Given the description of an element on the screen output the (x, y) to click on. 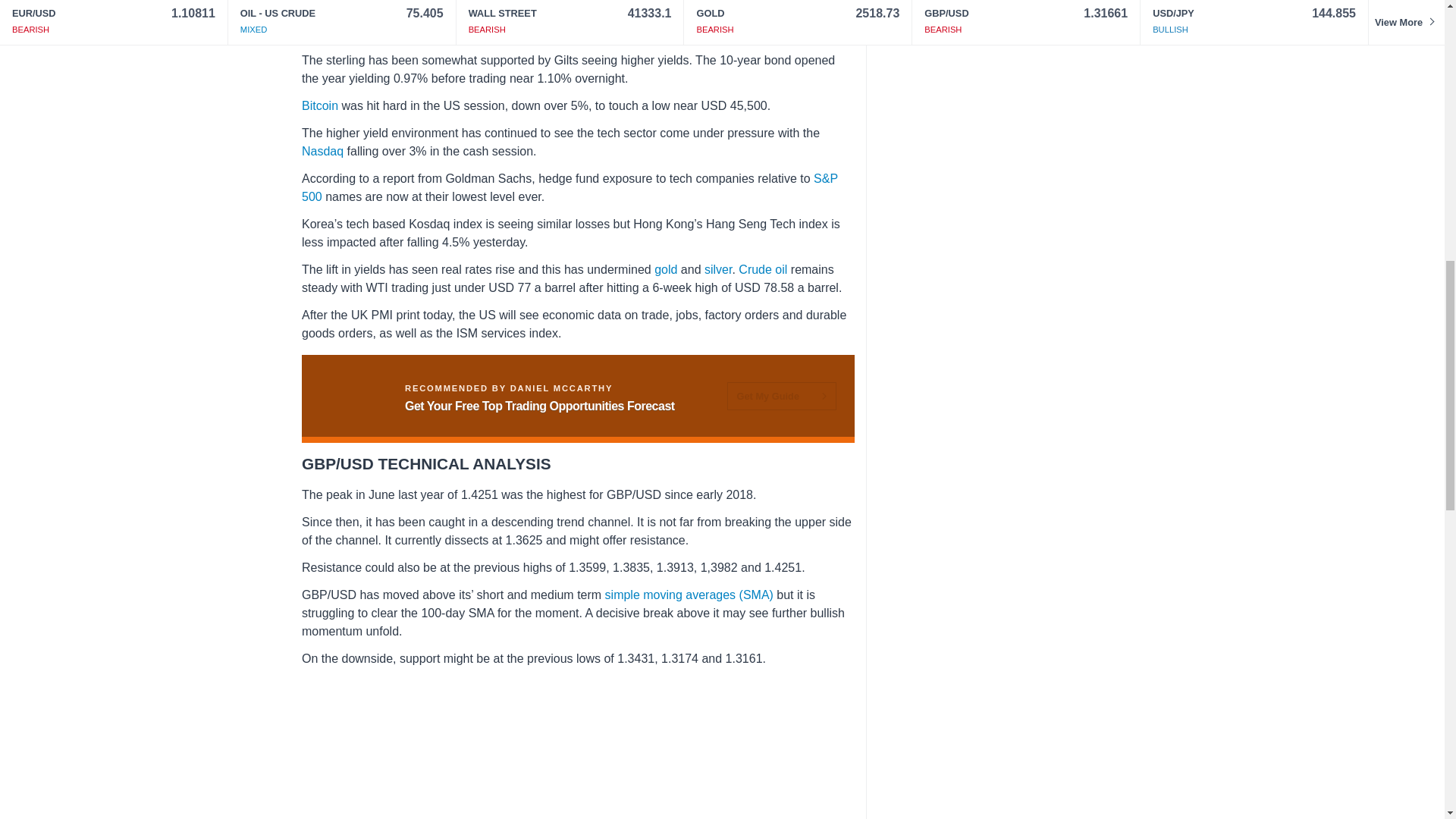
gold (665, 269)
silver (716, 269)
Nasdaq (322, 151)
AUD (736, 14)
EUR (541, 32)
CAD (770, 14)
Bitcoin (319, 105)
Crude oil (762, 269)
CHF (510, 32)
JPY (592, 32)
